Given the description of an element on the screen output the (x, y) to click on. 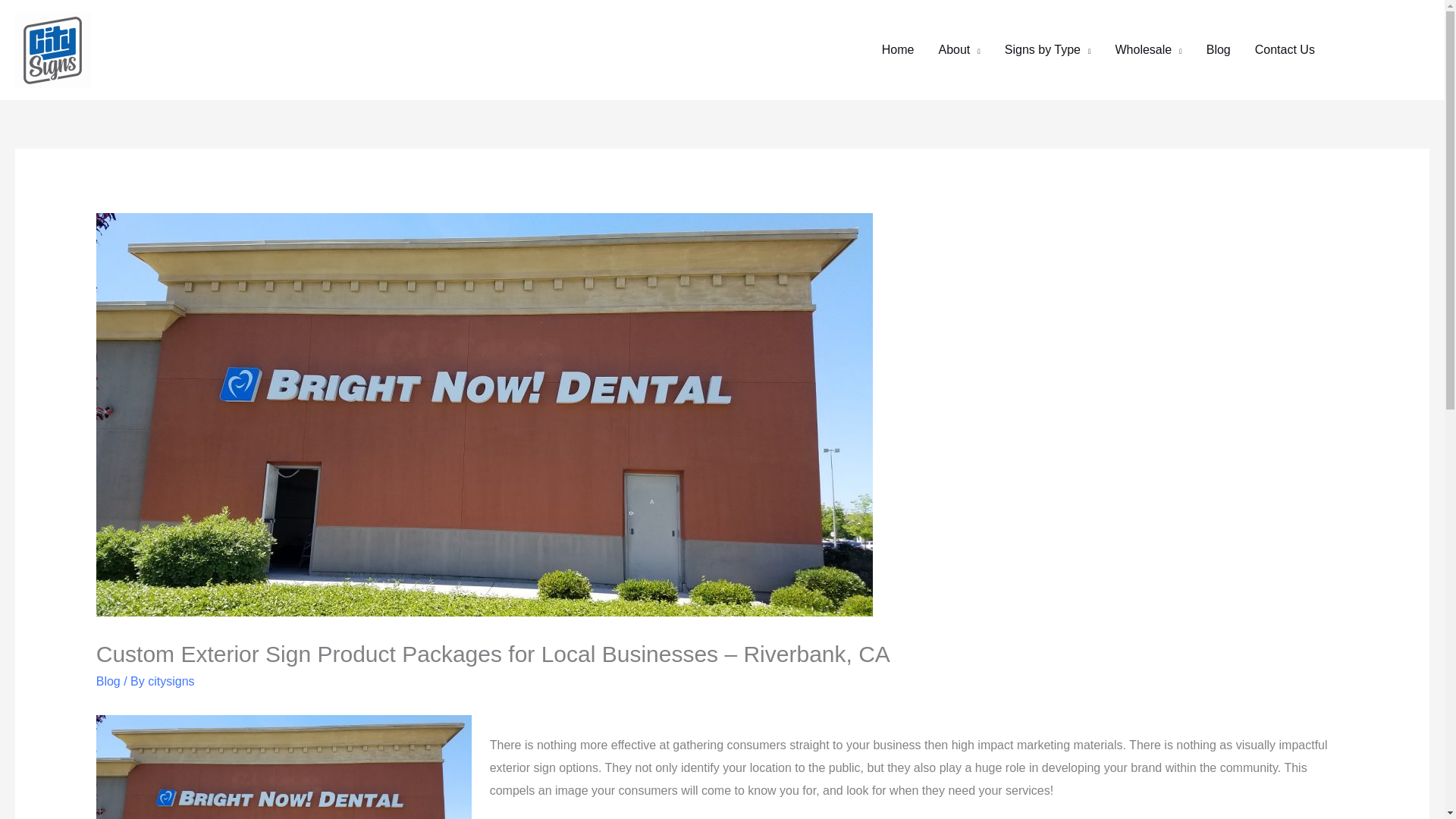
About (958, 49)
Contact Us (1284, 49)
Wholesale (1148, 49)
View all posts by citysigns (170, 680)
Signs by Type (1047, 49)
